Given the description of an element on the screen output the (x, y) to click on. 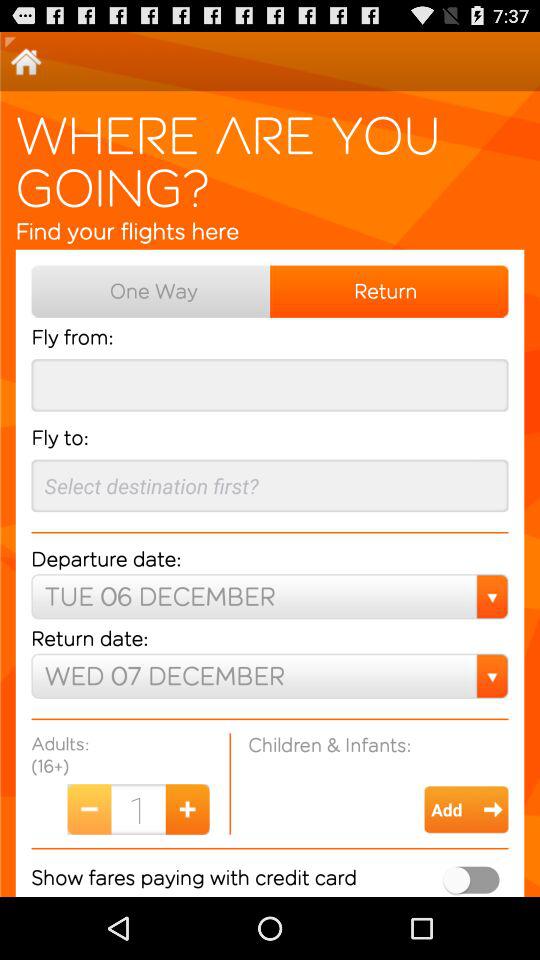
click on return which is next to one way (389, 290)
select the text field below fly to (270, 484)
click on the drop down below departure date (270, 596)
